Given the description of an element on the screen output the (x, y) to click on. 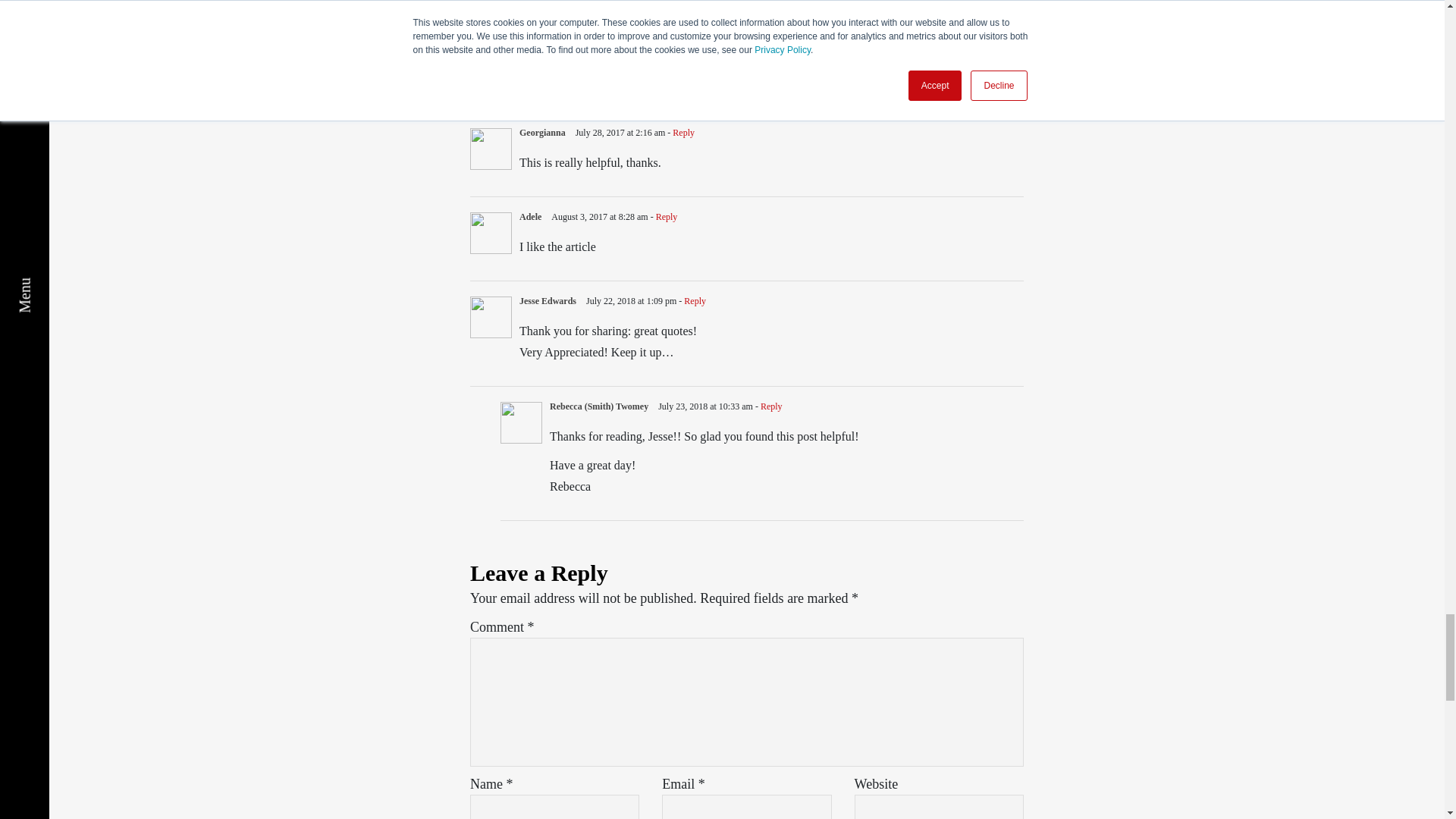
July 28, 2017 at 2:16 am (621, 132)
July 23, 2017 at 3:11 pm (649, 48)
July 23, 2018 at 10:33 am (706, 406)
August 3, 2017 at 8:28 am (600, 216)
July 22, 2018 at 1:09 pm (632, 300)
